Given the description of an element on the screen output the (x, y) to click on. 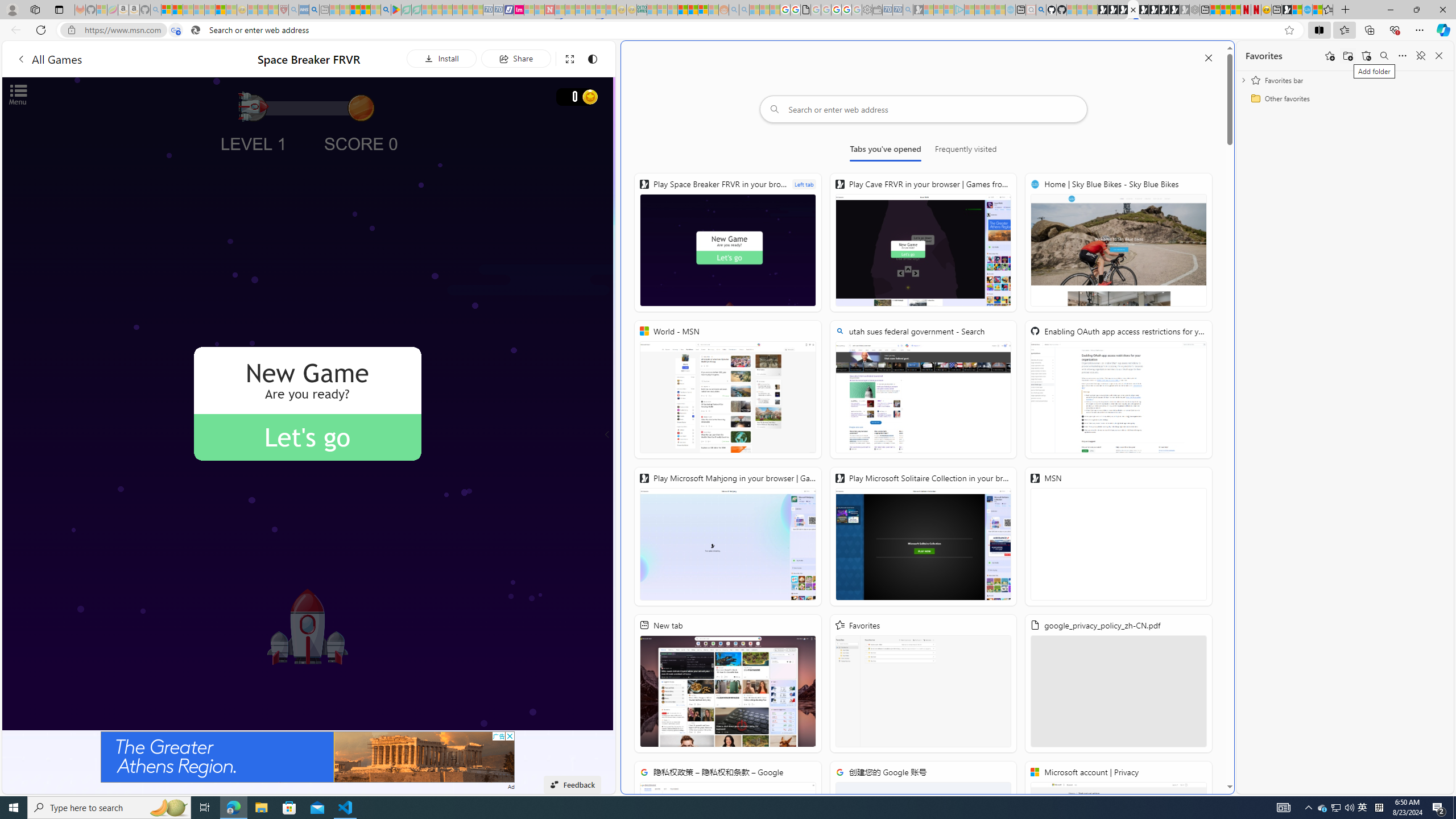
Jobs - lastminute.com Investor Portal (518, 9)
AutomationID: cbb (509, 736)
